Given the description of an element on the screen output the (x, y) to click on. 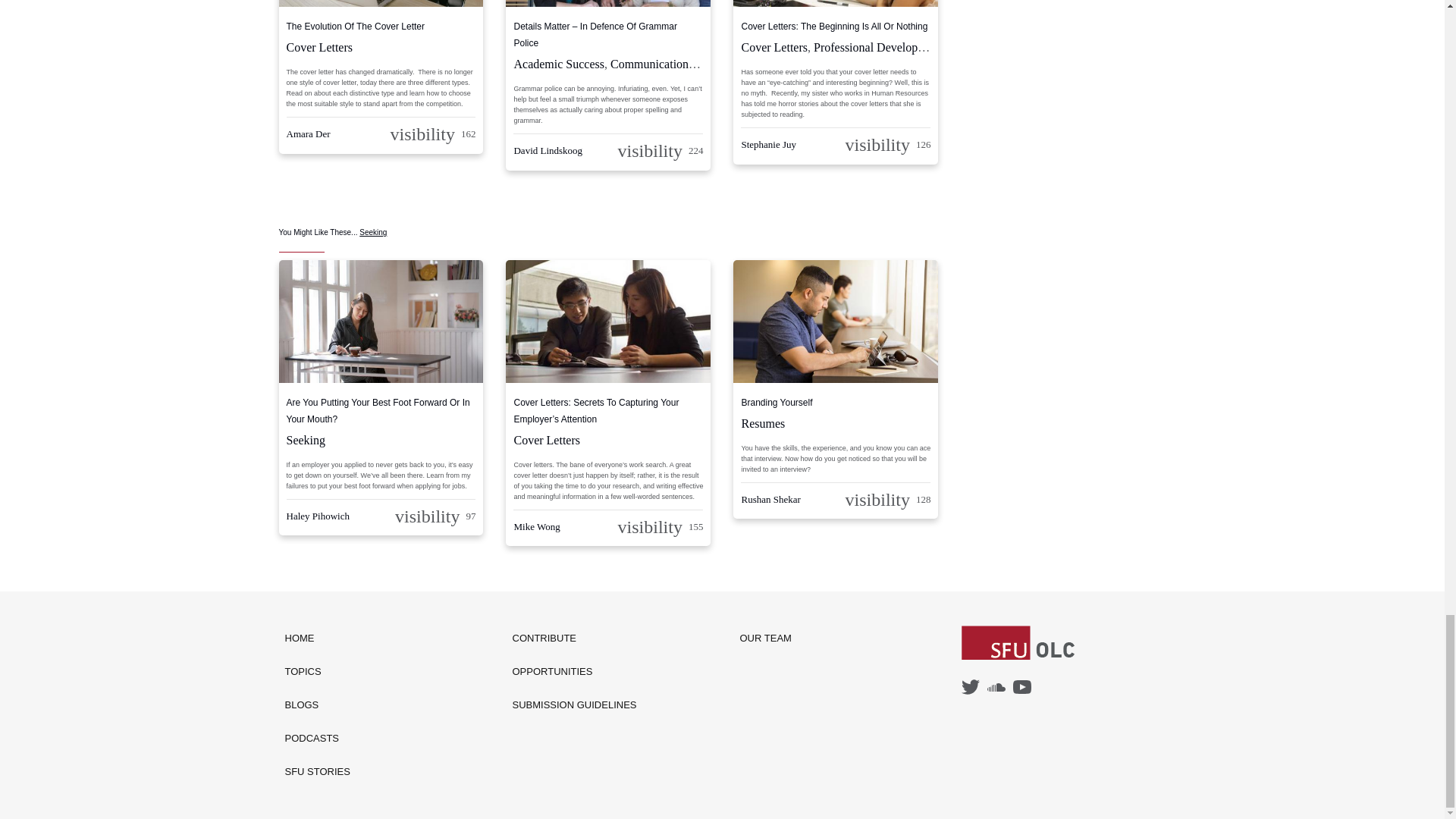
Contribute to the OLC (574, 638)
OLC Blogs (317, 704)
